Given the description of an element on the screen output the (x, y) to click on. 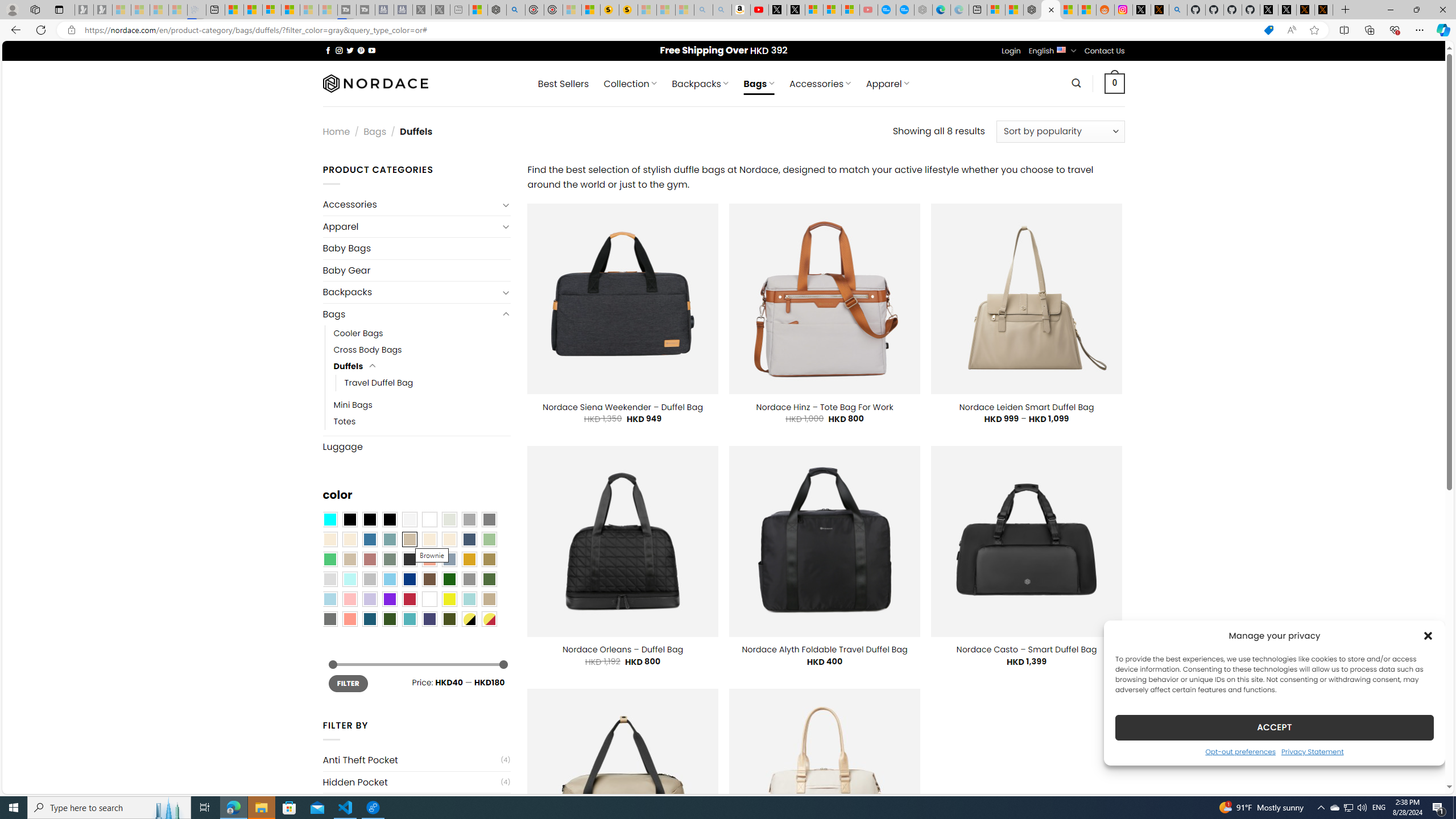
Clear (429, 519)
Log in to X / X (1142, 9)
 Best Sellers (563, 83)
Dusty Blue (449, 559)
Follow on YouTube (371, 49)
Aqua (468, 599)
Login (1010, 50)
